Given the description of an element on the screen output the (x, y) to click on. 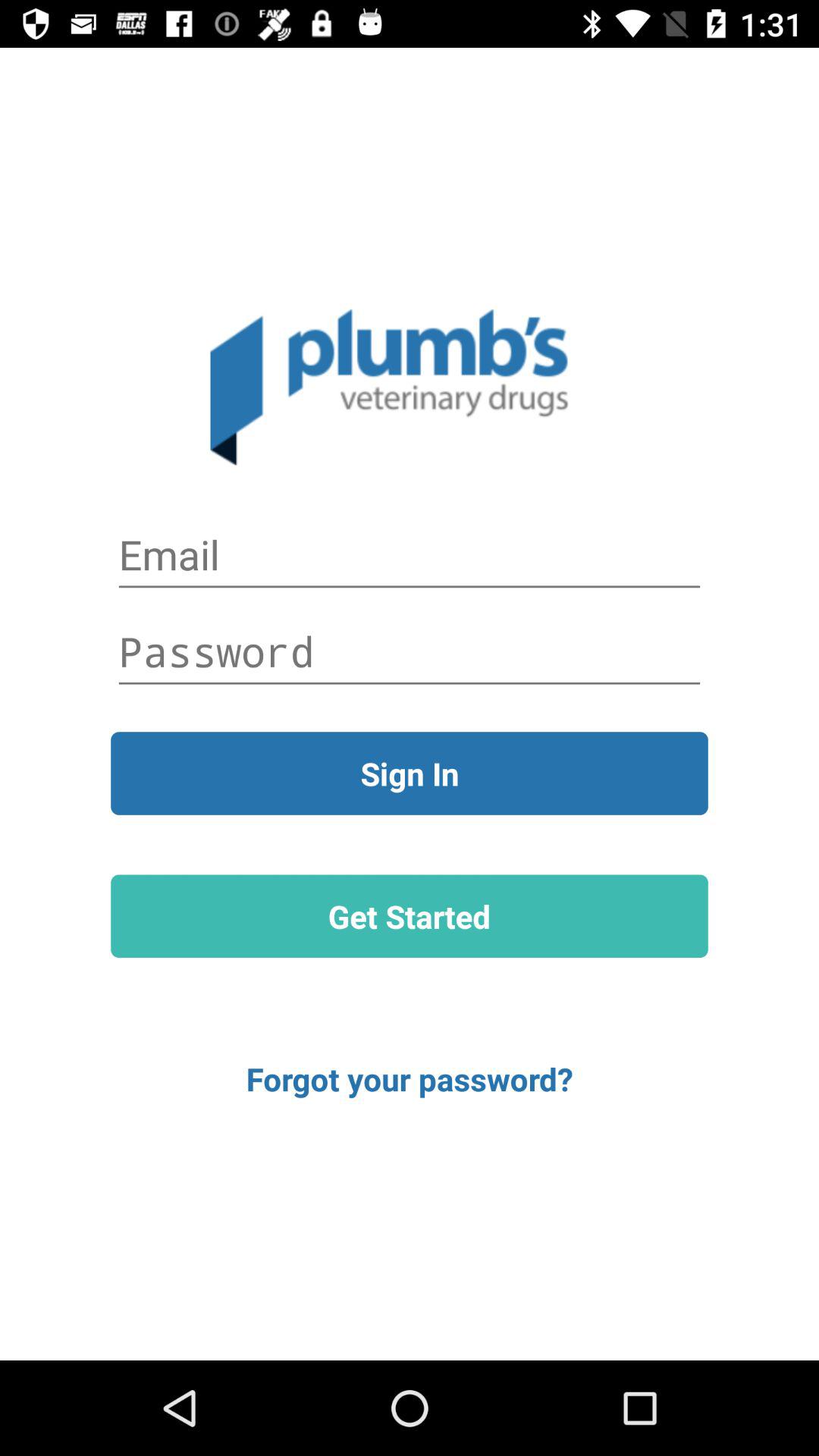
press the get started icon (409, 915)
